Given the description of an element on the screen output the (x, y) to click on. 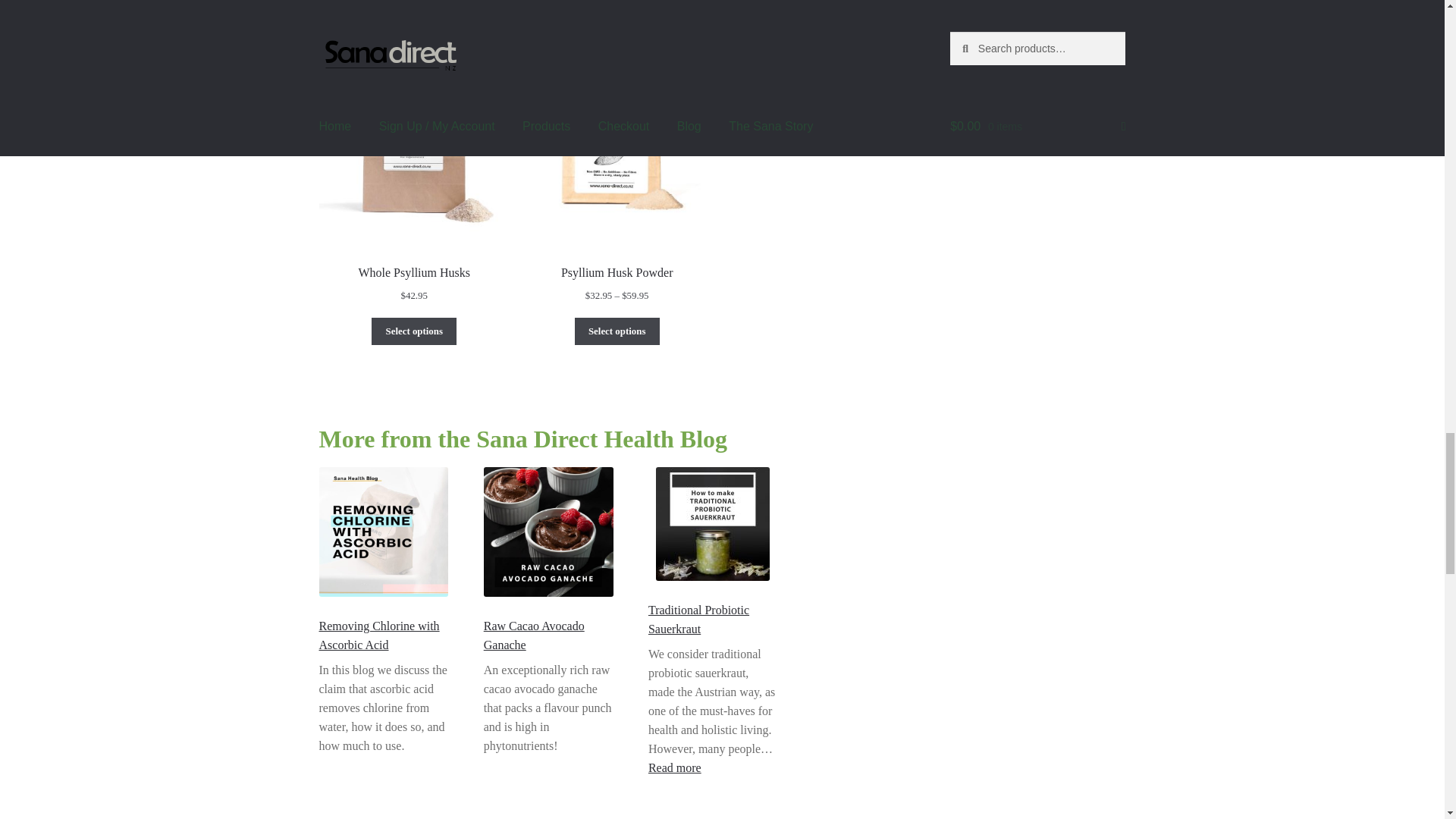
Removing Chlorine with Ascorbic Acid (378, 635)
Psyllium Husk Powder (616, 164)
Select options (617, 331)
Whole Psyllium Husks (413, 164)
Select options (674, 767)
Traditional Probiotic Sauerkraut (414, 331)
Raw Cacao Avocado Ganache (698, 619)
